Given the description of an element on the screen output the (x, y) to click on. 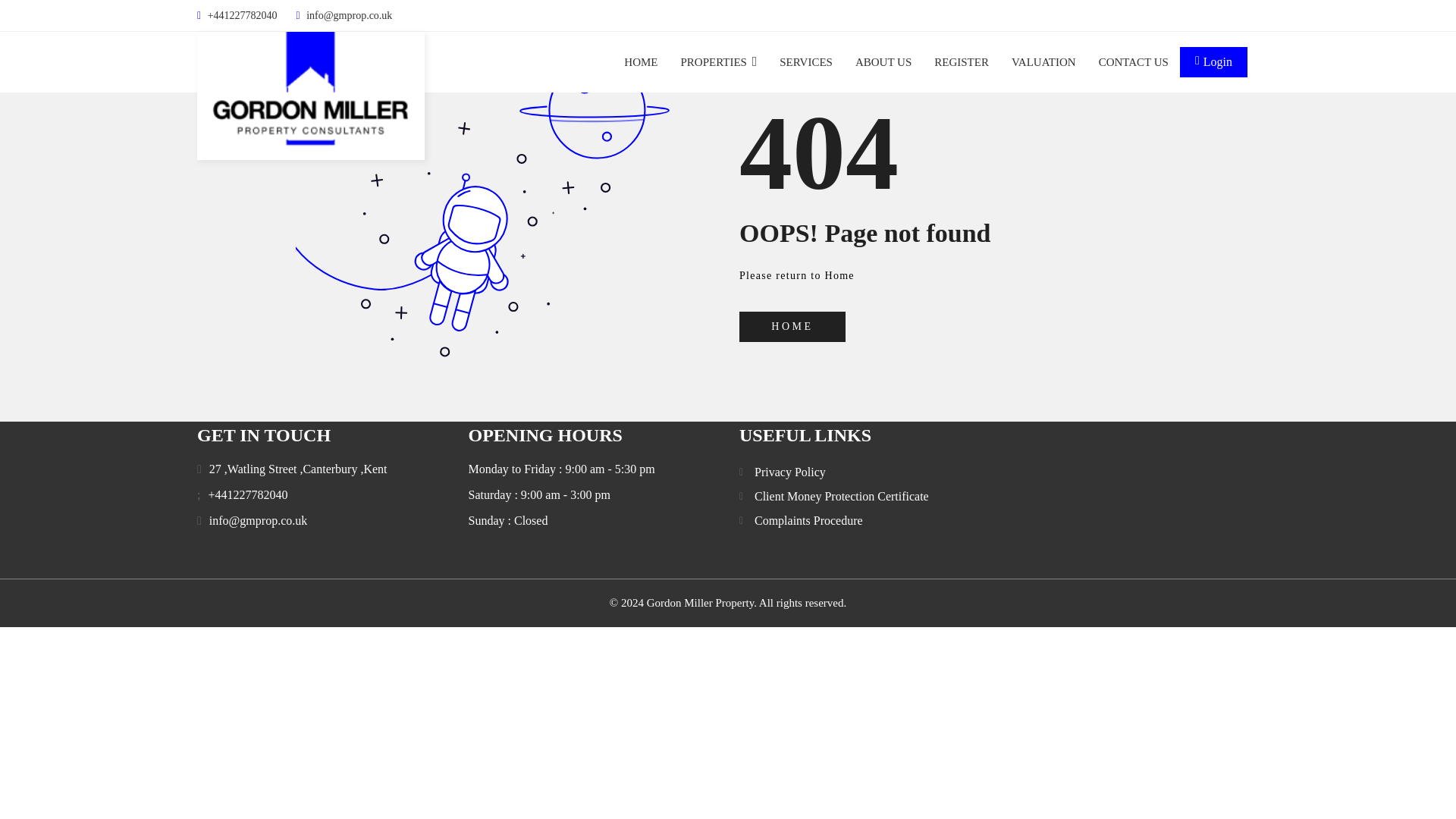
VALUATION (1043, 62)
REGISTER (961, 62)
HOME (792, 327)
HOME (641, 62)
Call (202, 521)
Mail (258, 520)
ABOUT US (883, 62)
Register (961, 62)
Contact Us (1134, 62)
Gordon Miller Property (310, 95)
Call (247, 495)
Client Money Protection Certificate (841, 495)
CONTACT US (1134, 62)
PROPERTIES (718, 62)
SERVICES (805, 62)
